Given the description of an element on the screen output the (x, y) to click on. 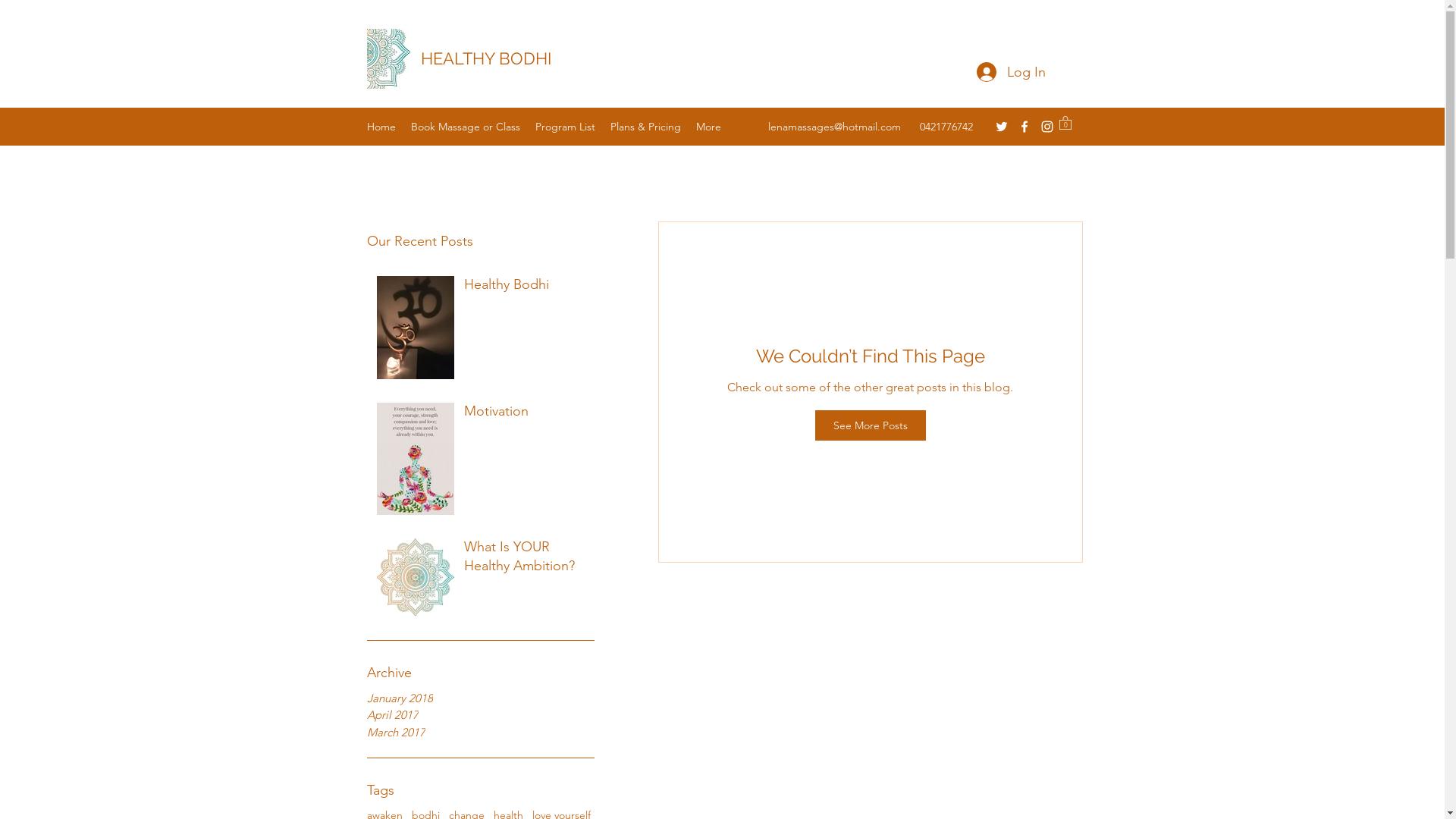
0 Element type: text (1064, 122)
lenamassages@hotmail.com Element type: text (833, 126)
March 2017 Element type: text (480, 732)
See More Posts Element type: text (869, 425)
What Is YOUR Healthy Ambition? Element type: text (524, 559)
Book Massage or Class Element type: text (465, 126)
April 2017 Element type: text (480, 715)
Healthy Bodhi Element type: text (524, 287)
Home Element type: text (381, 126)
January 2018 Element type: text (480, 698)
Plans & Pricing Element type: text (644, 126)
Motivation Element type: text (524, 413)
Program List Element type: text (564, 126)
Log In Element type: text (1011, 72)
